Given the description of an element on the screen output the (x, y) to click on. 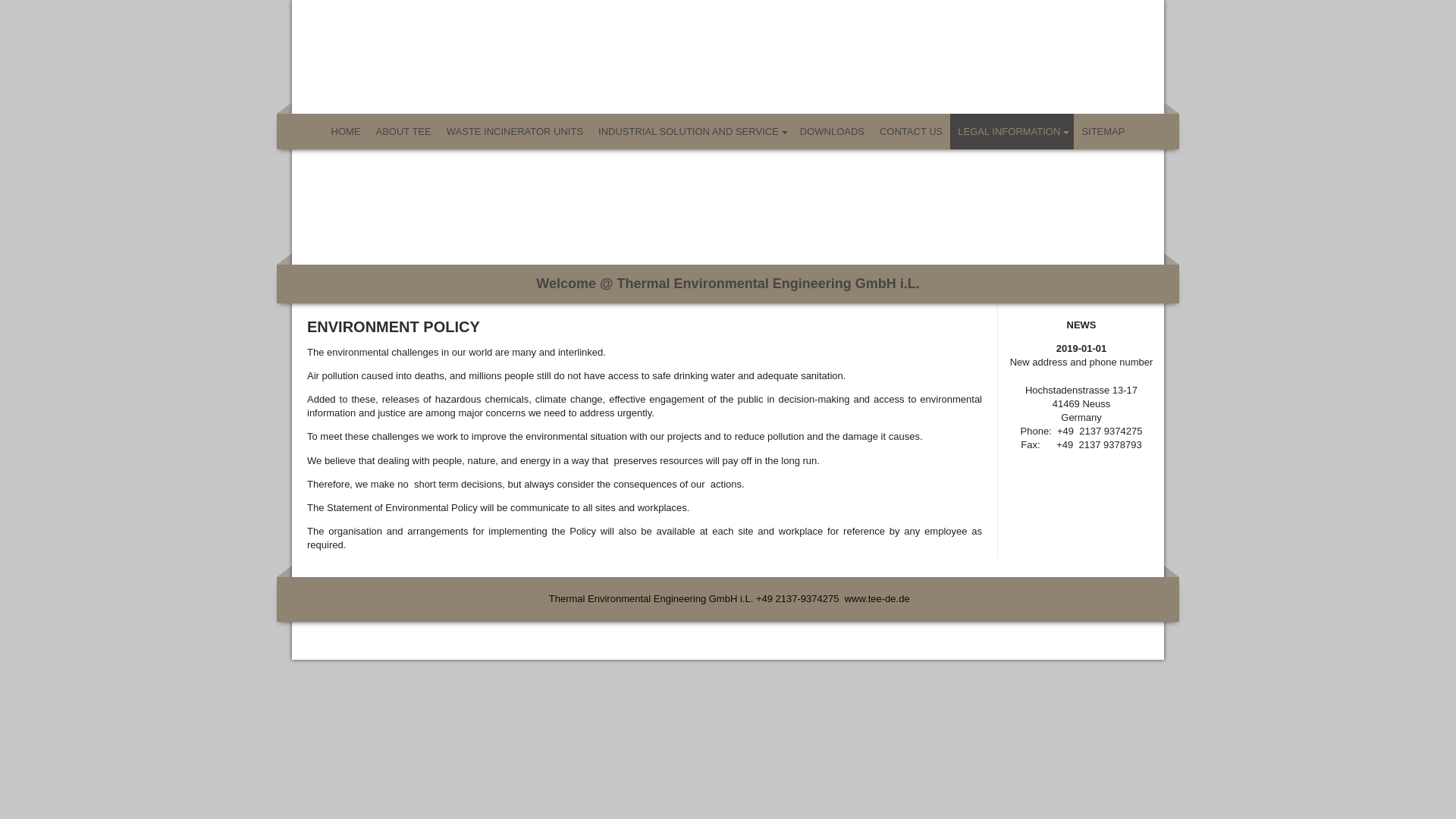
LEGAL INFORMATION (1012, 131)
SITEMAP (1103, 131)
INDUSTRIAL SOLUTION AND SERVICE (691, 131)
DOWNLOADS (832, 131)
INDUSTRIAL SOLUTION AND SERVICE (691, 131)
WASTE INCINERATOR UNITS (515, 131)
LEGAL INFORMATION (1012, 131)
DOWNLOADS (832, 131)
HOME (345, 131)
ABOUT TEE (403, 131)
